Given the description of an element on the screen output the (x, y) to click on. 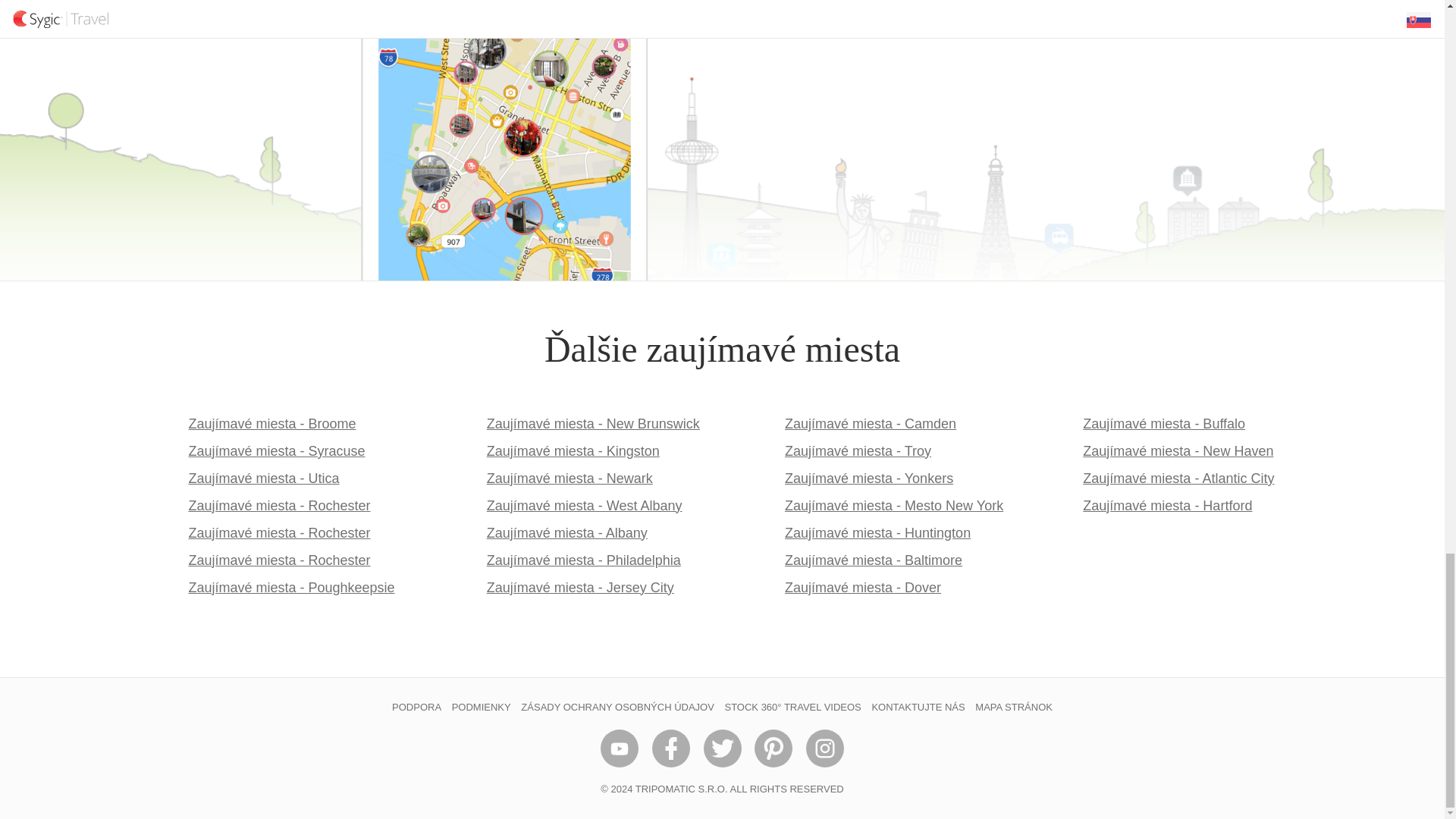
Youtube (619, 748)
